Given the description of an element on the screen output the (x, y) to click on. 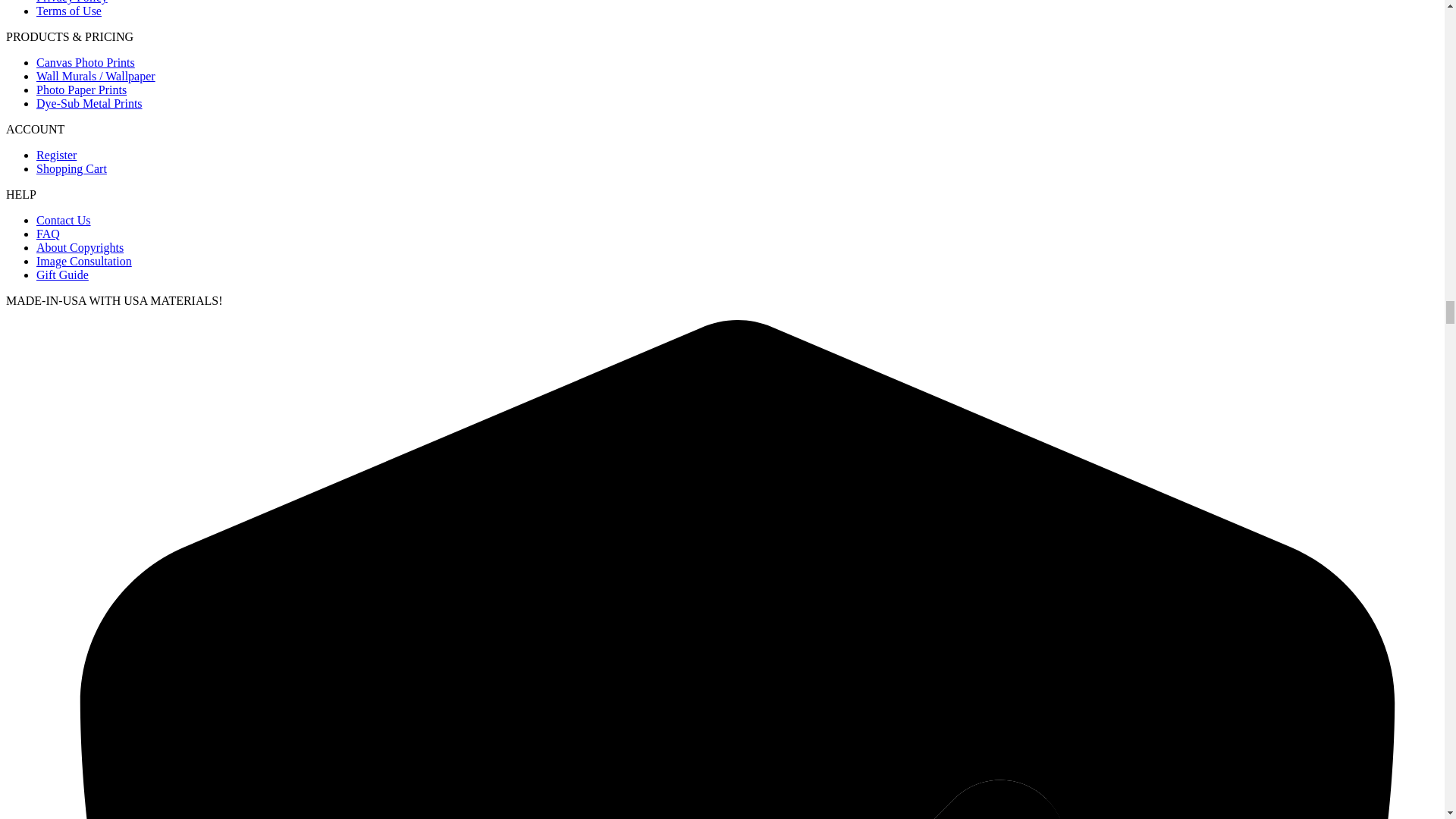
Privacy Policy (71, 2)
Register (56, 154)
Canvas Photo Prints (85, 62)
FAQ (47, 233)
Terms of Use (68, 10)
Photo Paper Prints (81, 89)
Dye-Sub Metal Prints (89, 103)
Contact Us (63, 219)
Shopping Cart (71, 168)
